Given the description of an element on the screen output the (x, y) to click on. 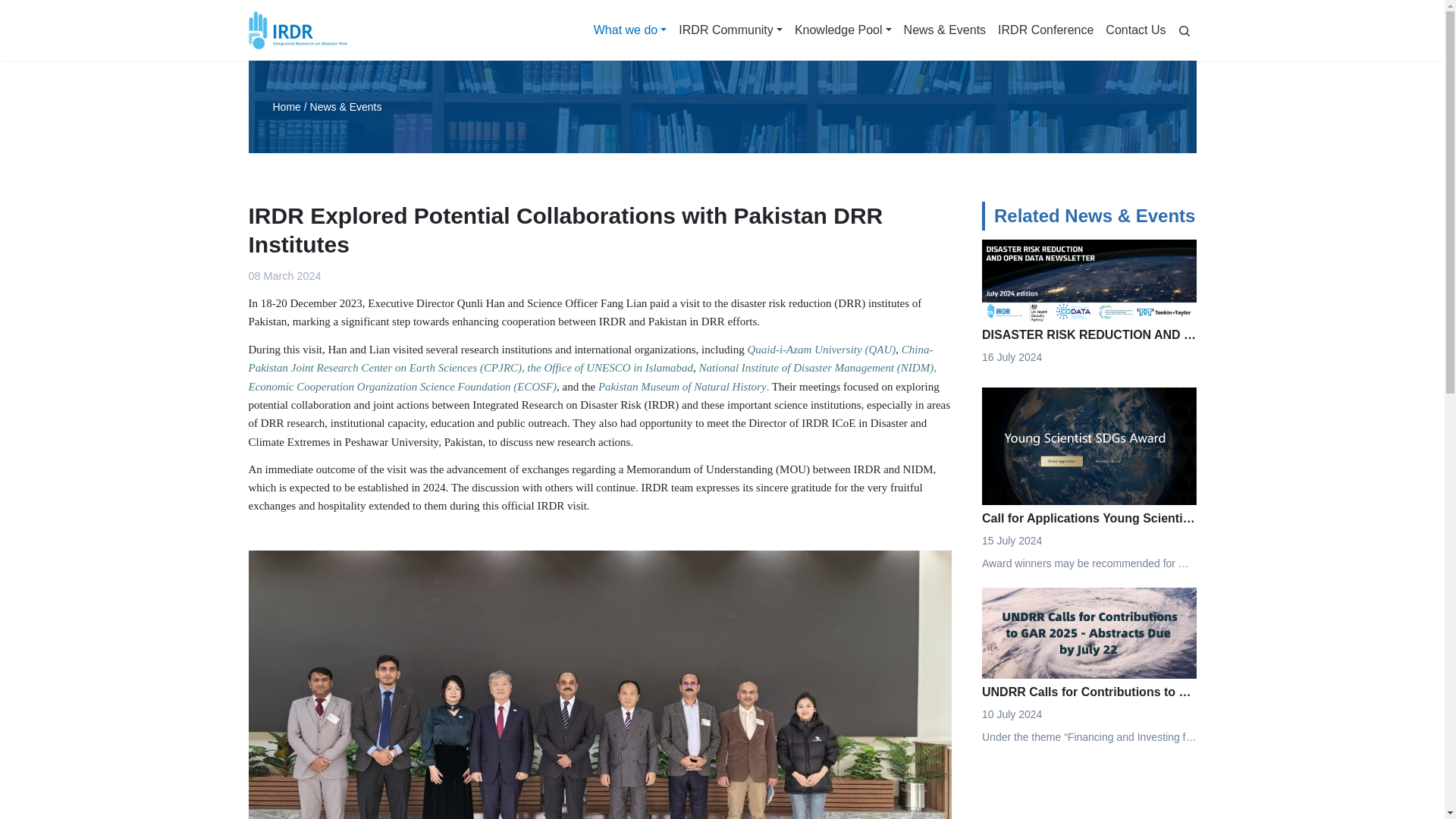
What we do (630, 29)
IRDR Conference (1045, 29)
the Office of UNESCO in Islamabad (610, 367)
IRDR Community (730, 29)
Home (287, 106)
Knowledge Pool (843, 29)
DISASTER RISK REDUCTION AND OPEN DATA NEWSLETTER (1088, 342)
Contact Us (1135, 29)
Pakistan Museum of Natural History (682, 386)
